Given the description of an element on the screen output the (x, y) to click on. 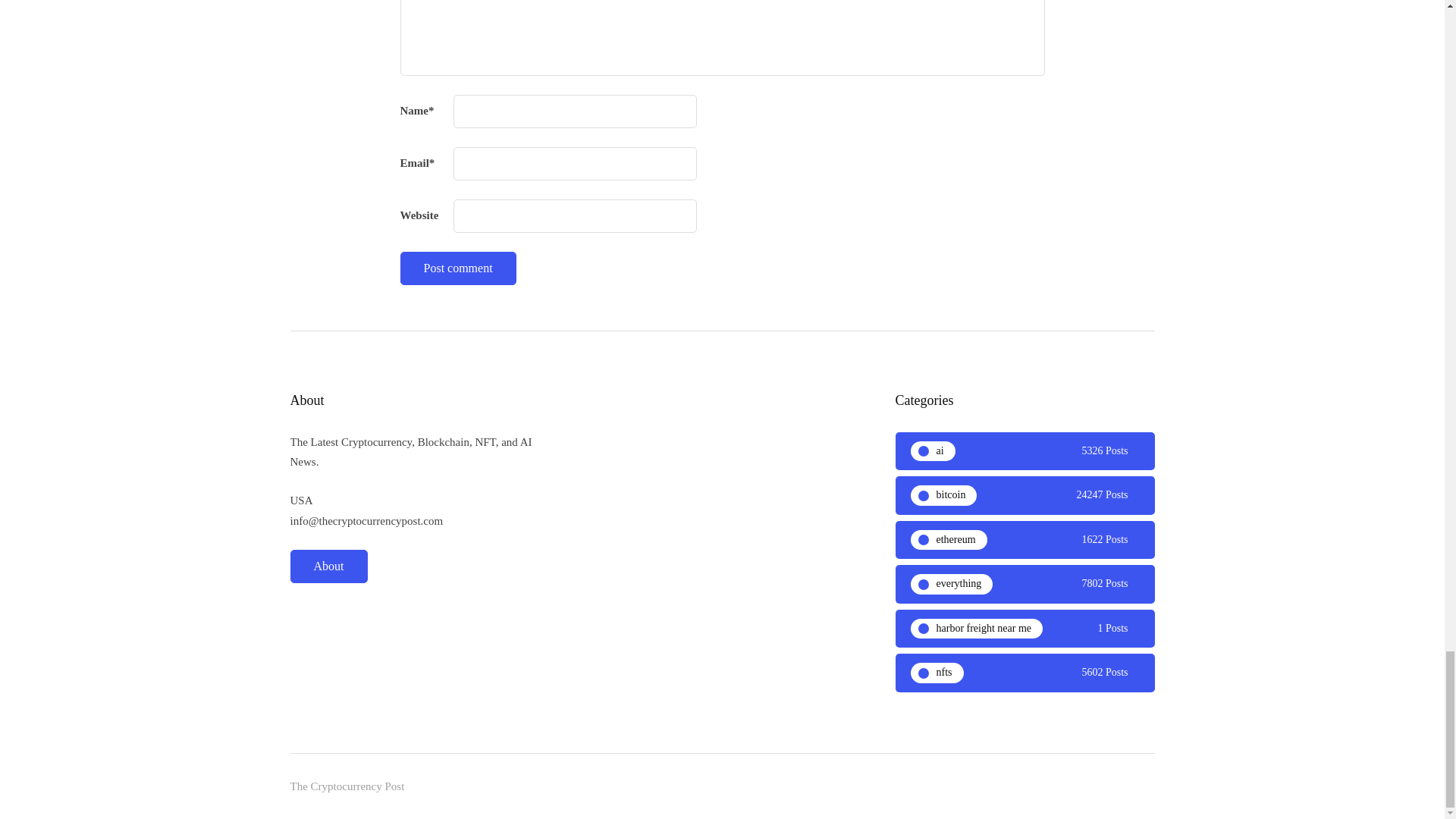
Post comment (458, 268)
